Given the description of an element on the screen output the (x, y) to click on. 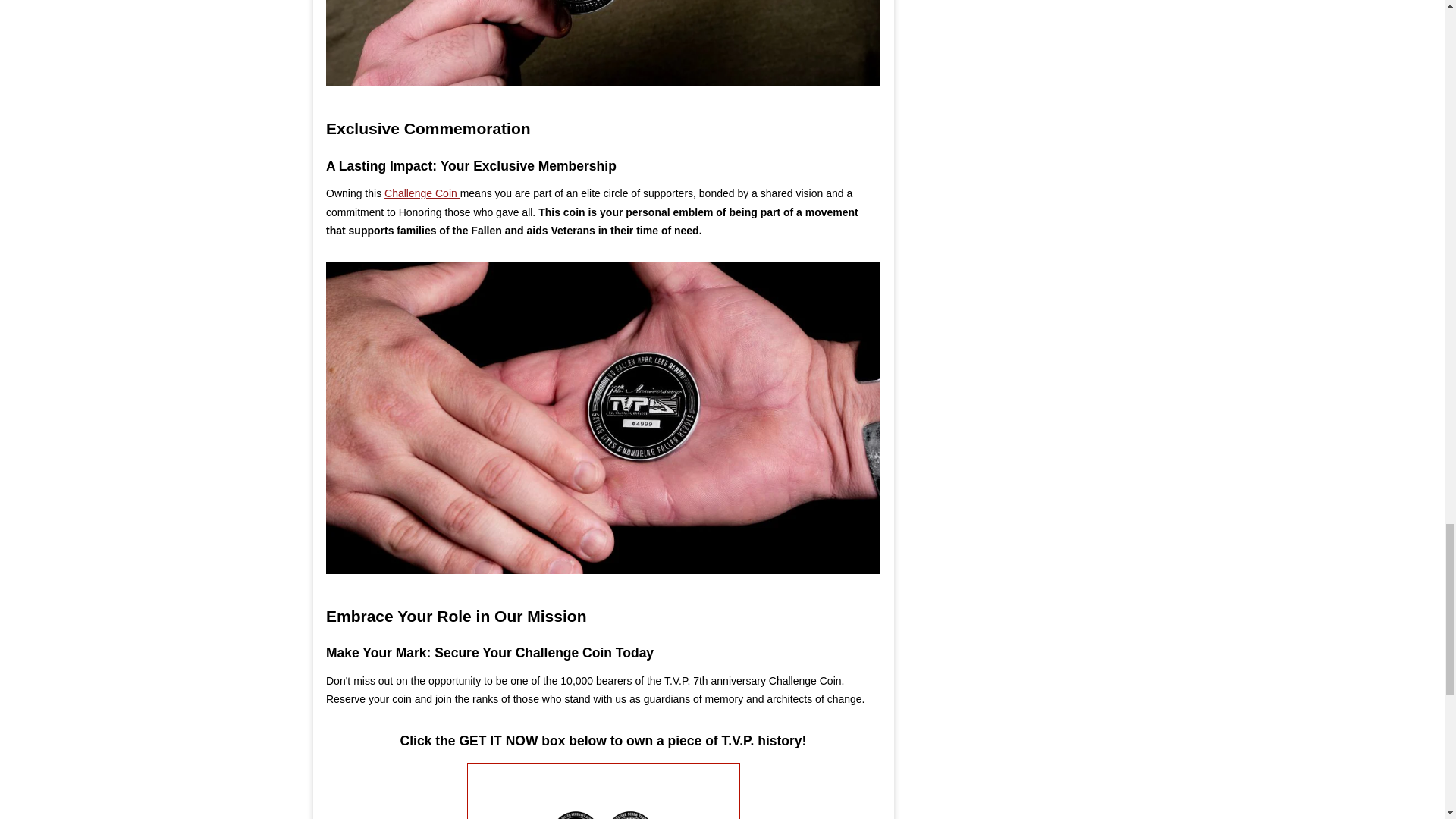
7th Anniversary Challenge Coin (603, 43)
Challenge Coin (422, 193)
